Given the description of an element on the screen output the (x, y) to click on. 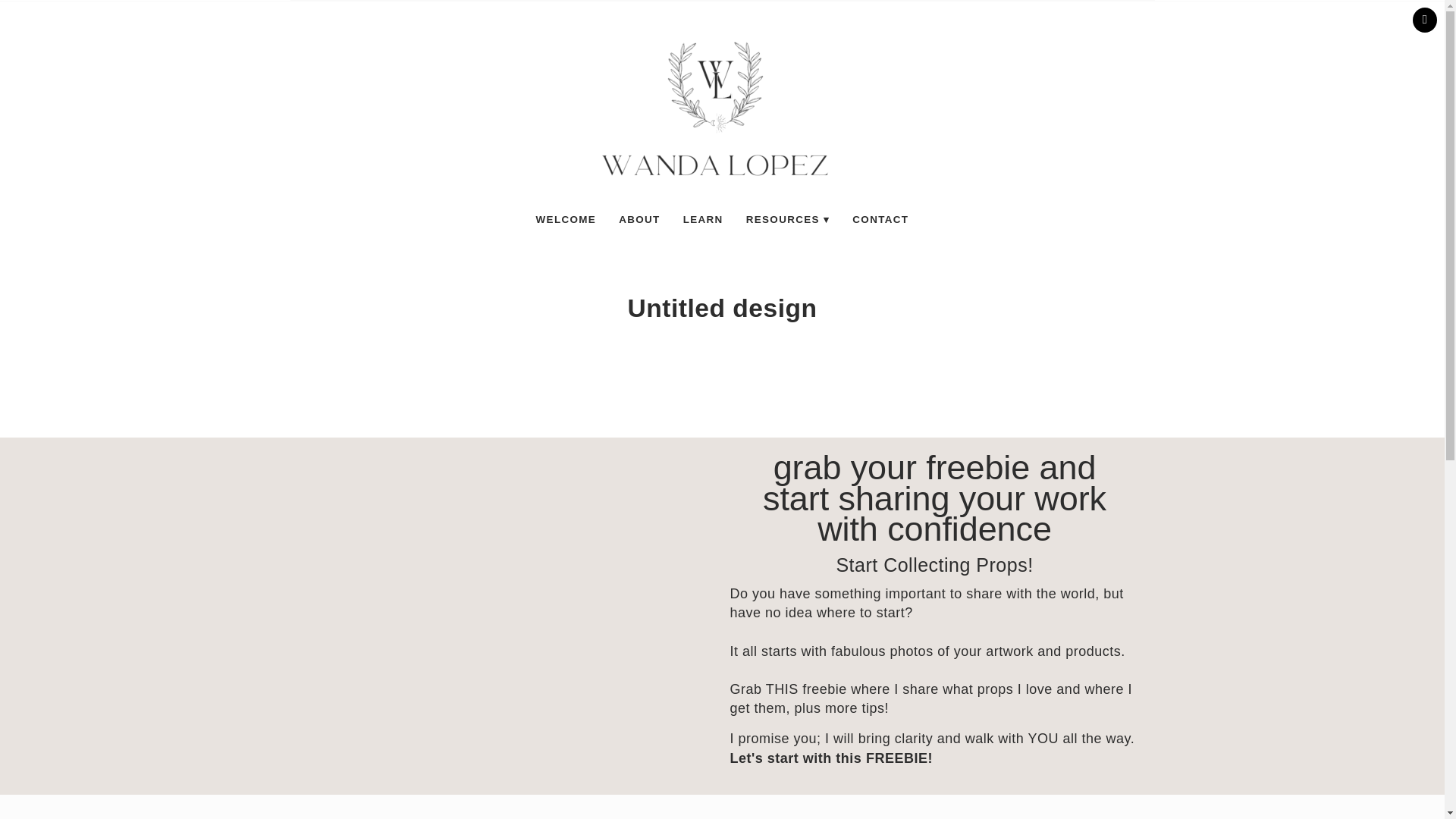
WELCOME (566, 219)
View your shopping cart (1424, 19)
Start Collecting Props! (933, 564)
ABOUT (639, 219)
LEARN (703, 219)
CONTACT (880, 219)
RESOURCES (788, 219)
